Given the description of an element on the screen output the (x, y) to click on. 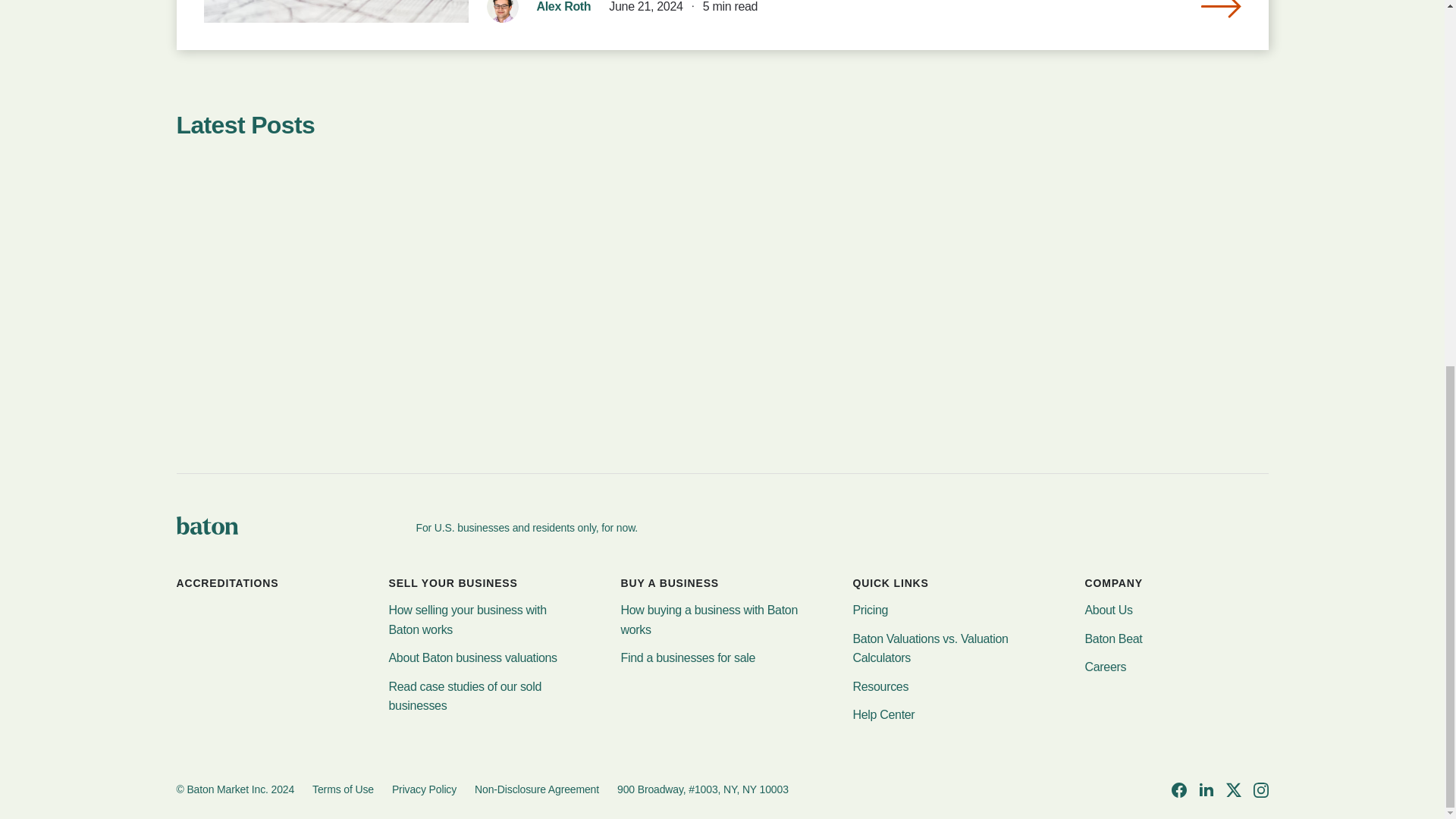
How buying a business with Baton works (711, 619)
Terms of Use (343, 789)
Help Center (882, 714)
Careers (1104, 667)
About Baton business valuations (472, 658)
How selling your business with Baton works (480, 619)
Pricing (869, 609)
Baton Valuations vs. Valuation Calculators (943, 648)
About Us (1108, 609)
Resources (879, 686)
Baton Beat (1112, 639)
Read case studies of our sold businesses (480, 696)
Find a businesses for sale (687, 658)
